Given the description of an element on the screen output the (x, y) to click on. 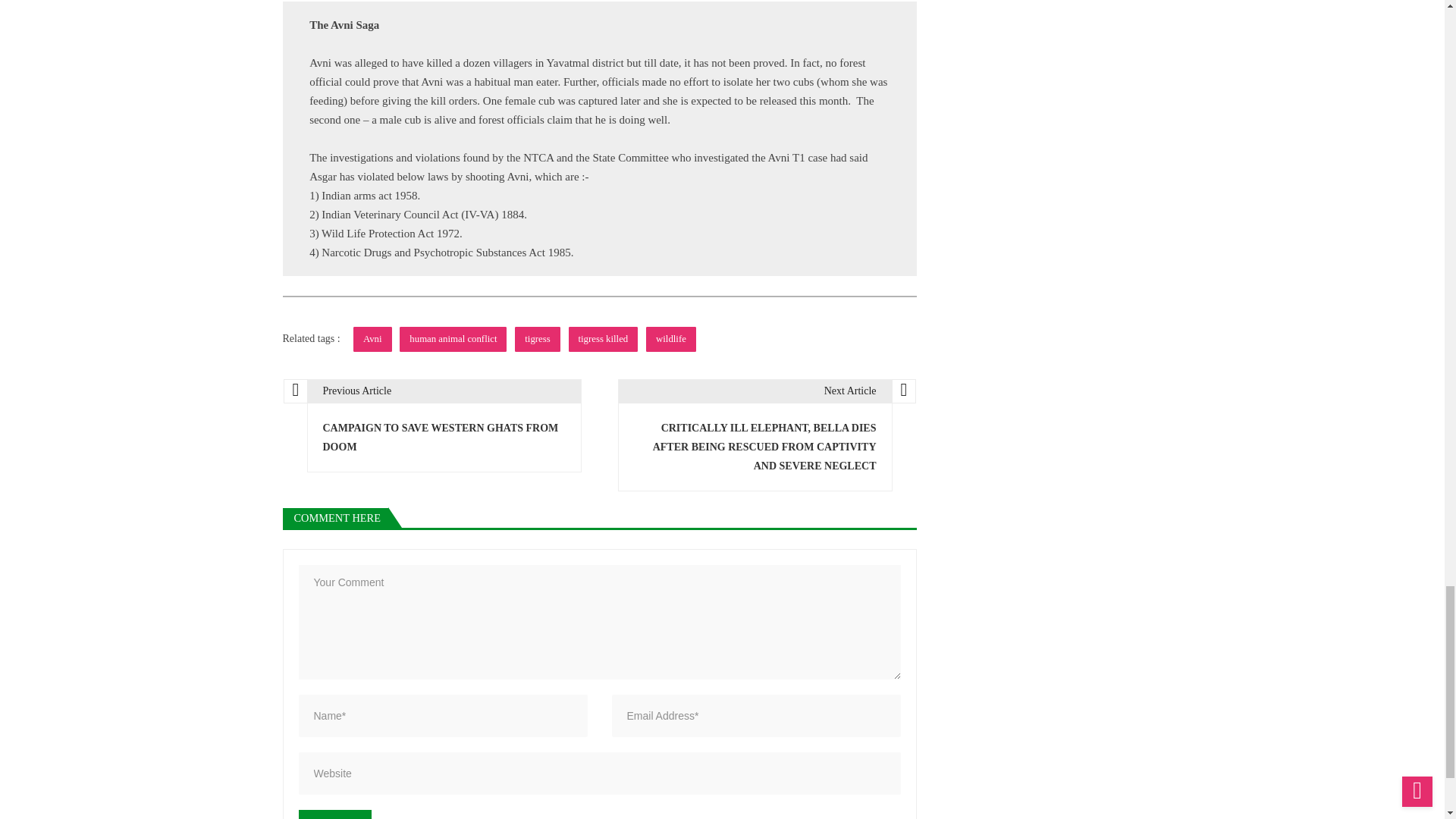
Comment (334, 814)
